Given the description of an element on the screen output the (x, y) to click on. 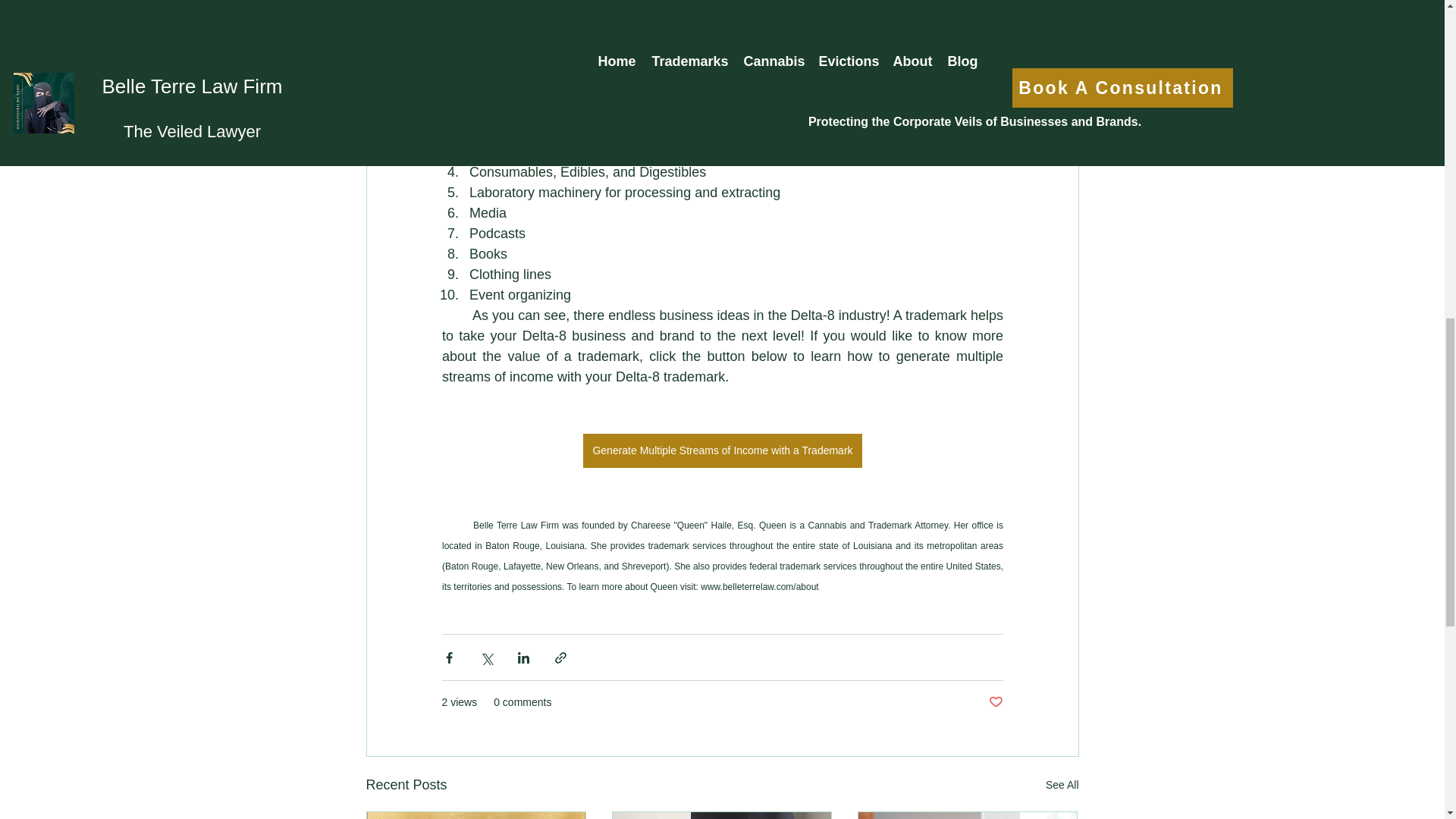
Post not marked as liked (995, 702)
See All (1061, 784)
Generate Multiple Streams of Income with a Trademark (722, 450)
